Given the description of an element on the screen output the (x, y) to click on. 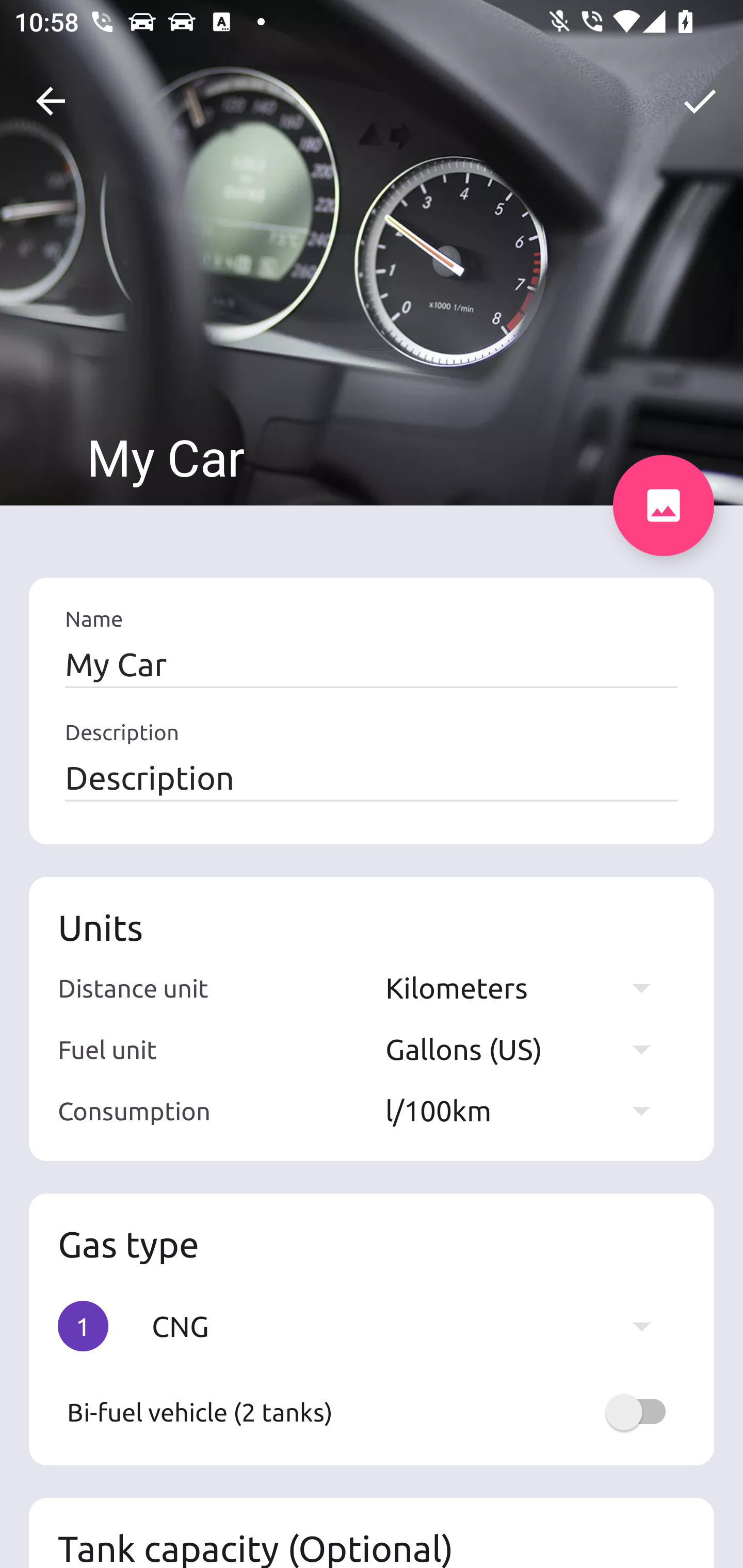
Navigate up (50, 101)
OK (699, 101)
My Car (371, 664)
Description (371, 777)
Kilometers (527, 987)
Gallons (US) (527, 1048)
l/100km (527, 1110)
CNG (411, 1325)
Bi-fuel vehicle (2 tanks) (371, 1411)
